Given the description of an element on the screen output the (x, y) to click on. 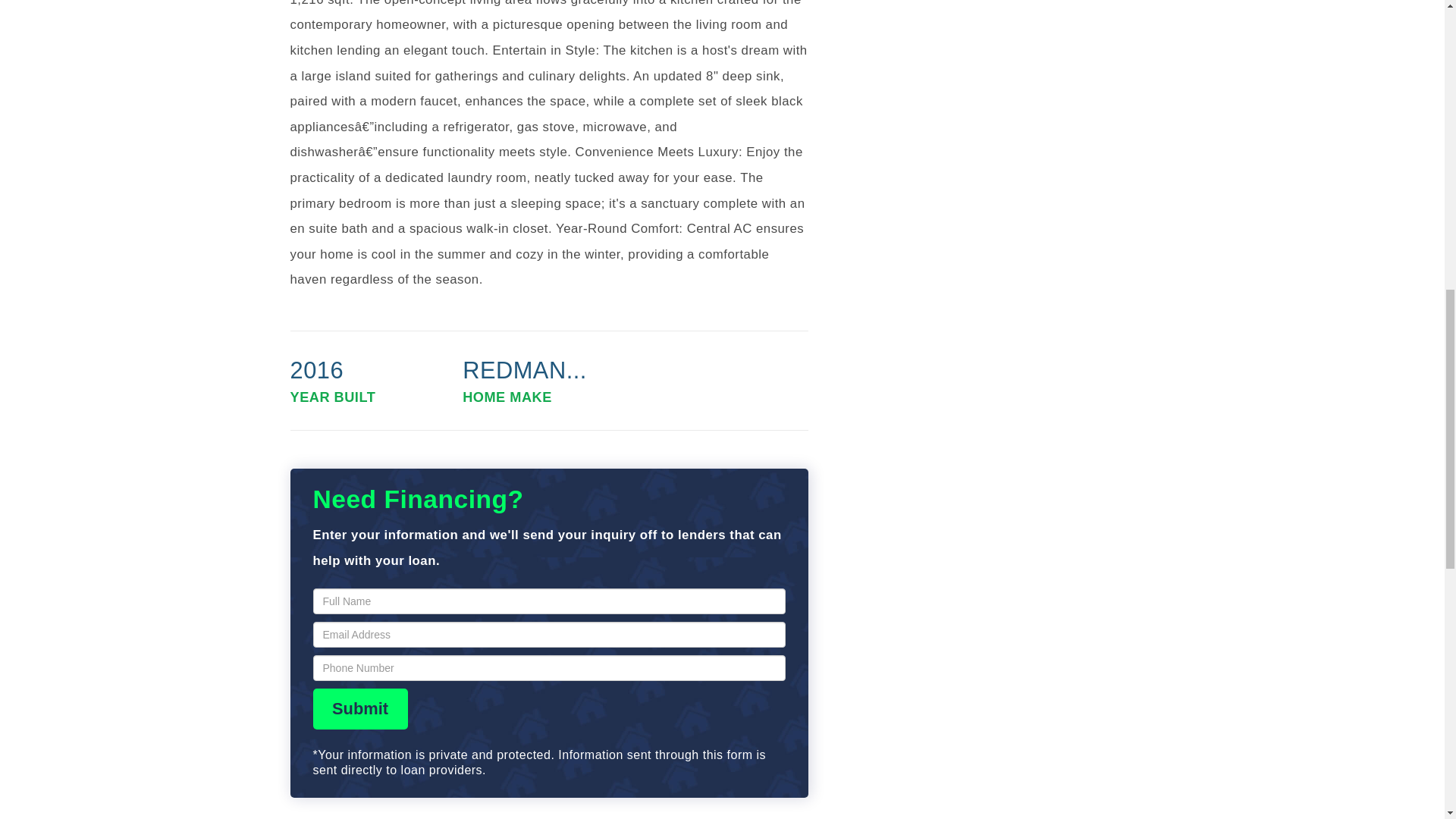
REDMAN (548, 380)
Submit (360, 708)
